Given the description of an element on the screen output the (x, y) to click on. 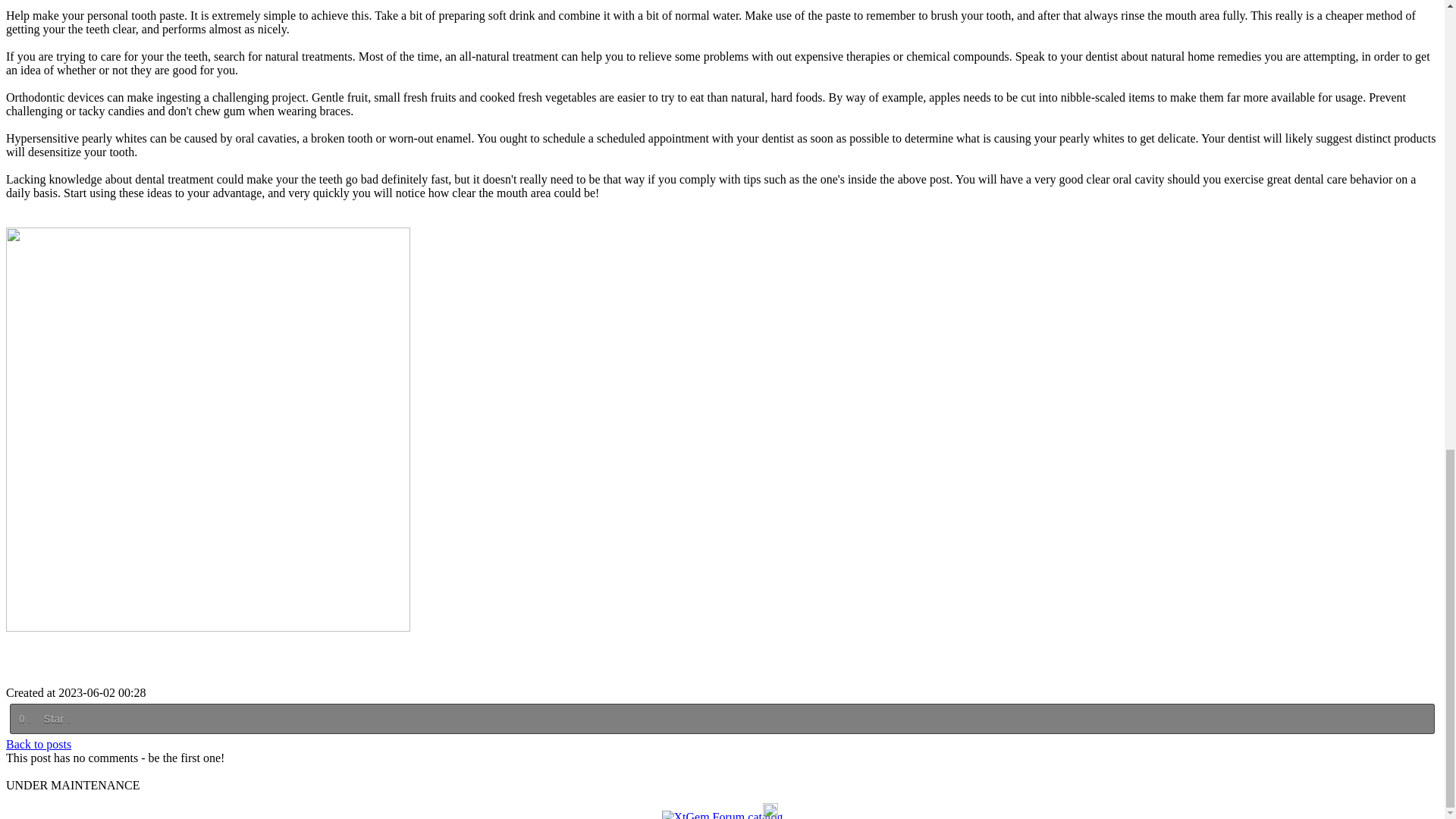
0 (24, 718)
Back to posts (38, 744)
Star (56, 718)
